Given the description of an element on the screen output the (x, y) to click on. 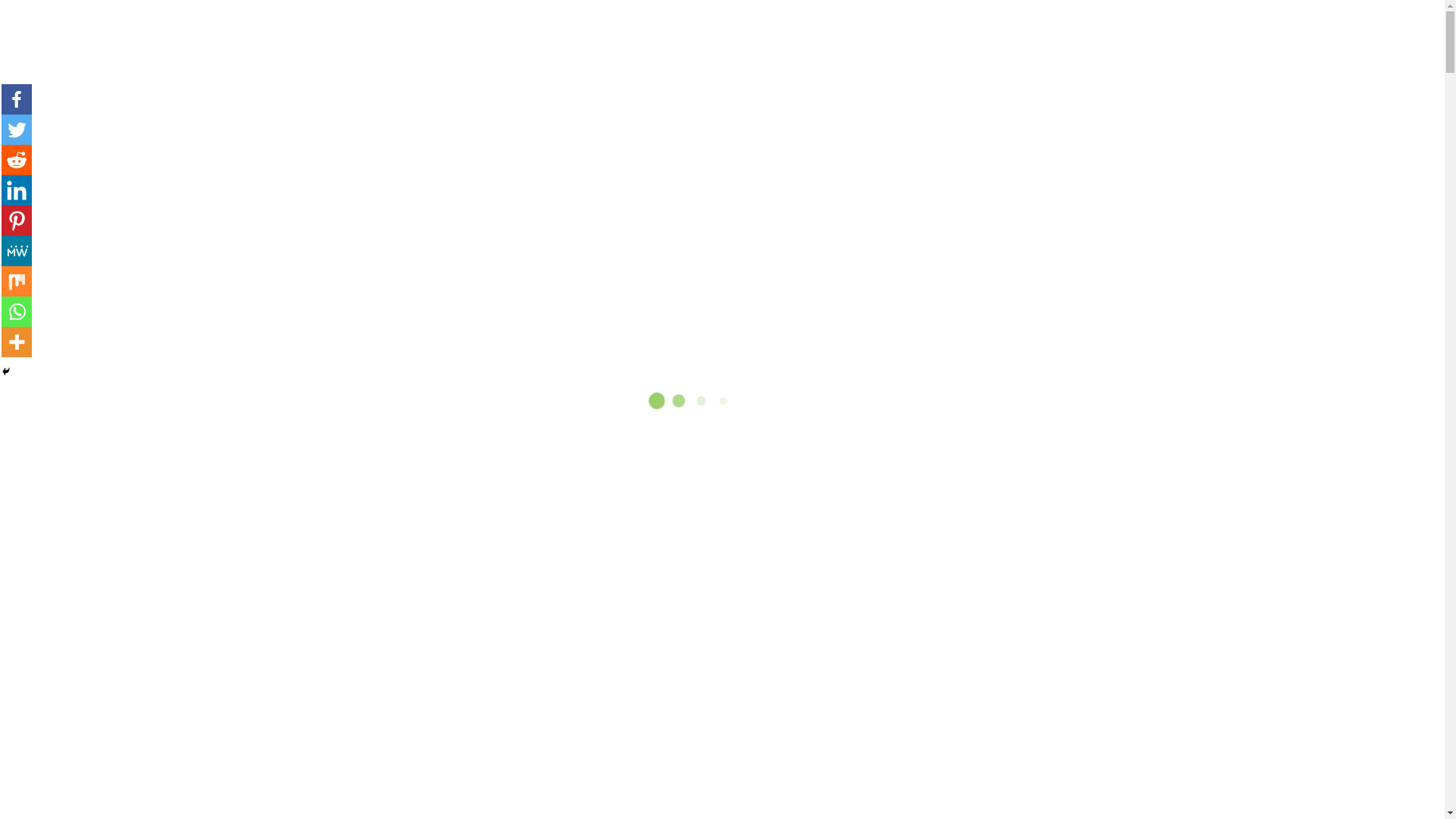
MeWe Element type: hover (16, 250)
Pinterest Element type: hover (16, 220)
Mix Element type: hover (16, 281)
Twitter Element type: hover (16, 129)
Reddit Element type: hover (16, 159)
Facebook Element type: hover (16, 99)
David Paquet Element type: text (484, 707)
Whatsapp Element type: hover (16, 311)
Linkedin Element type: hover (16, 190)
More Element type: hover (16, 341)
Hide Element type: hover (6, 371)
